Given the description of an element on the screen output the (x, y) to click on. 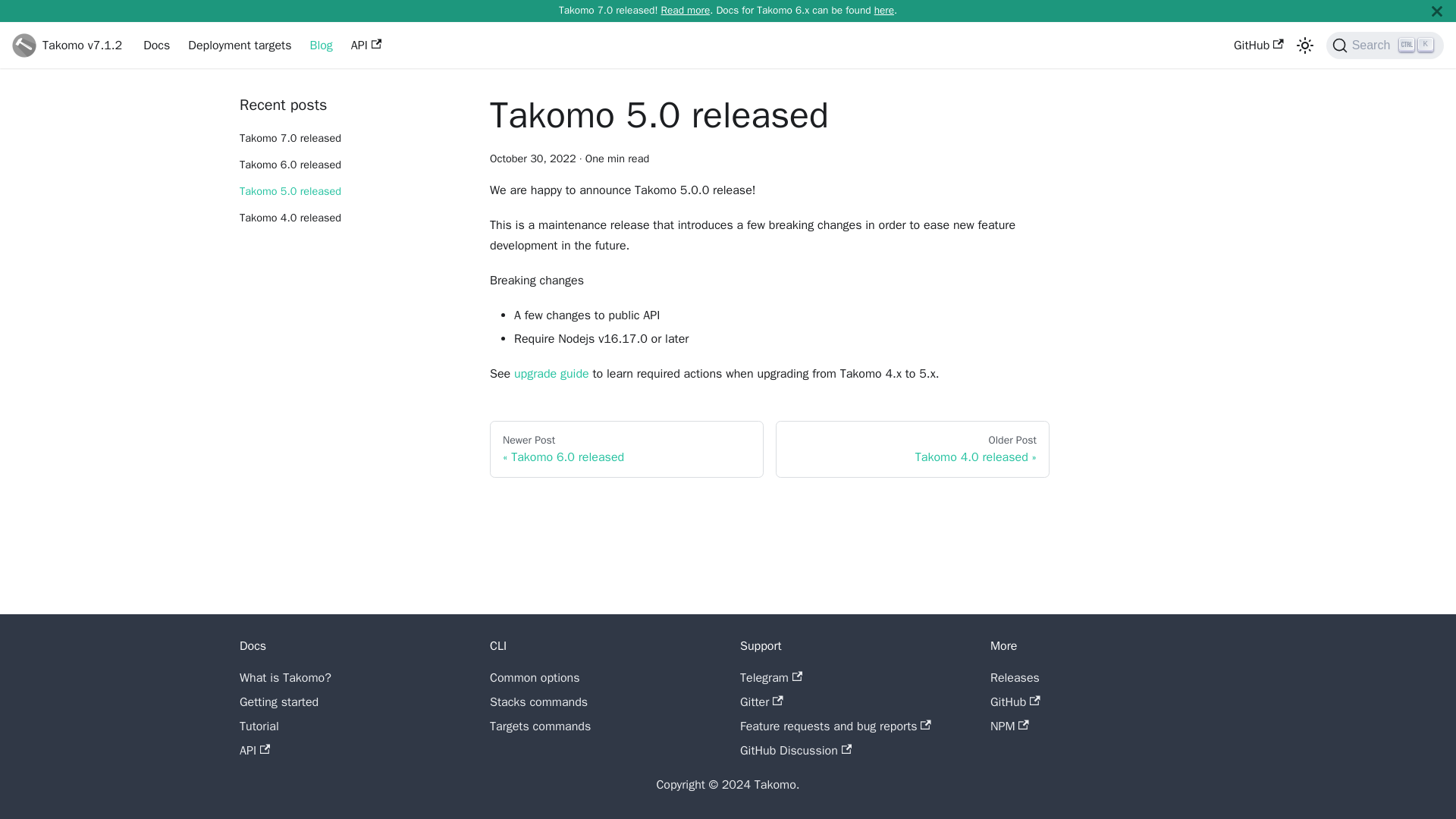
Releases (1014, 677)
Takomo v7.1.2 (66, 45)
GitHub Discussion (795, 750)
Takomo 4.0 released (352, 218)
Takomo 6.0 released (352, 165)
GitHub (1015, 702)
Feature requests and bug reports (835, 726)
Getting started (279, 702)
